Given the description of an element on the screen output the (x, y) to click on. 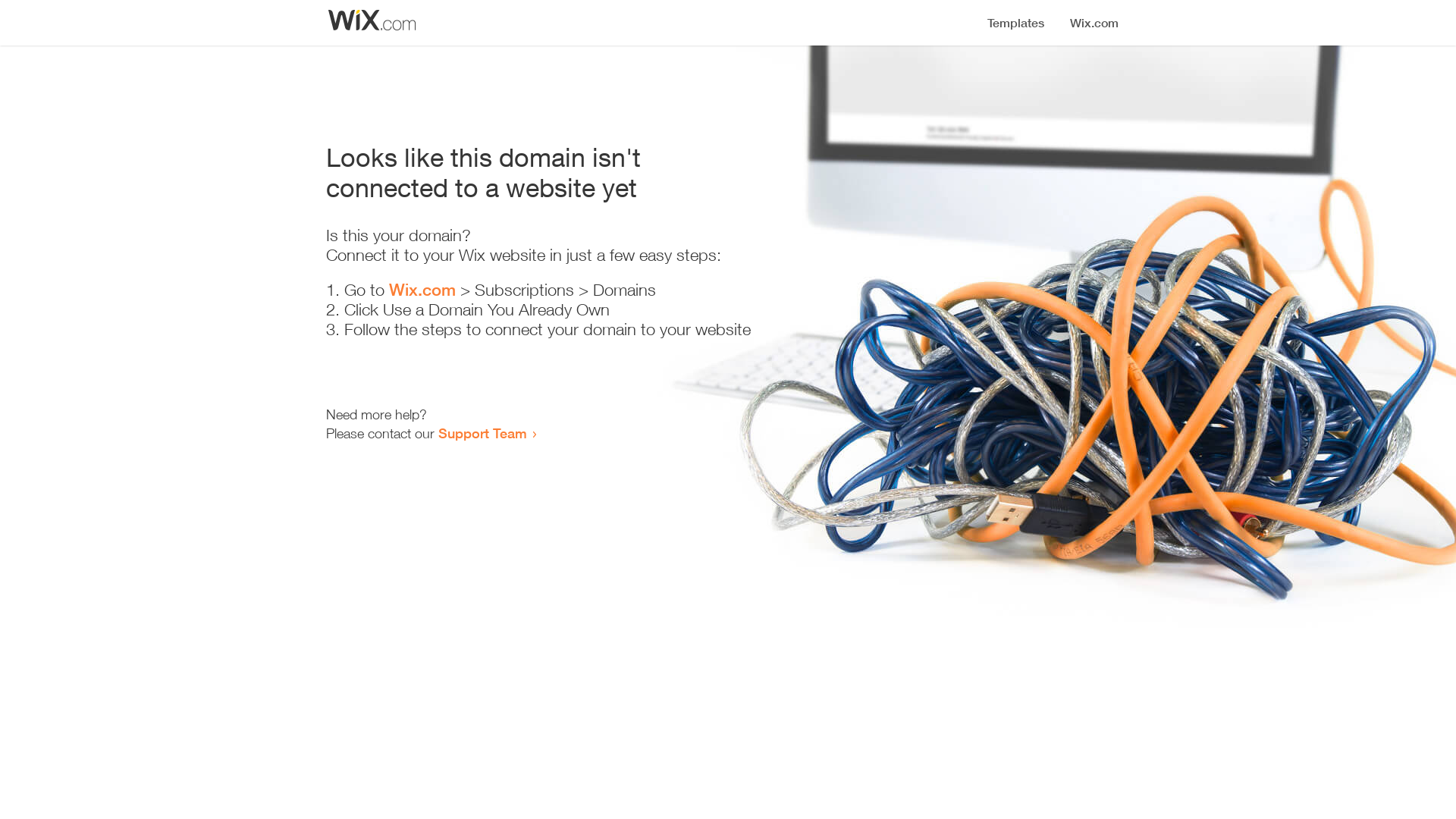
Support Team Element type: text (482, 432)
Wix.com Element type: text (422, 289)
